Given the description of an element on the screen output the (x, y) to click on. 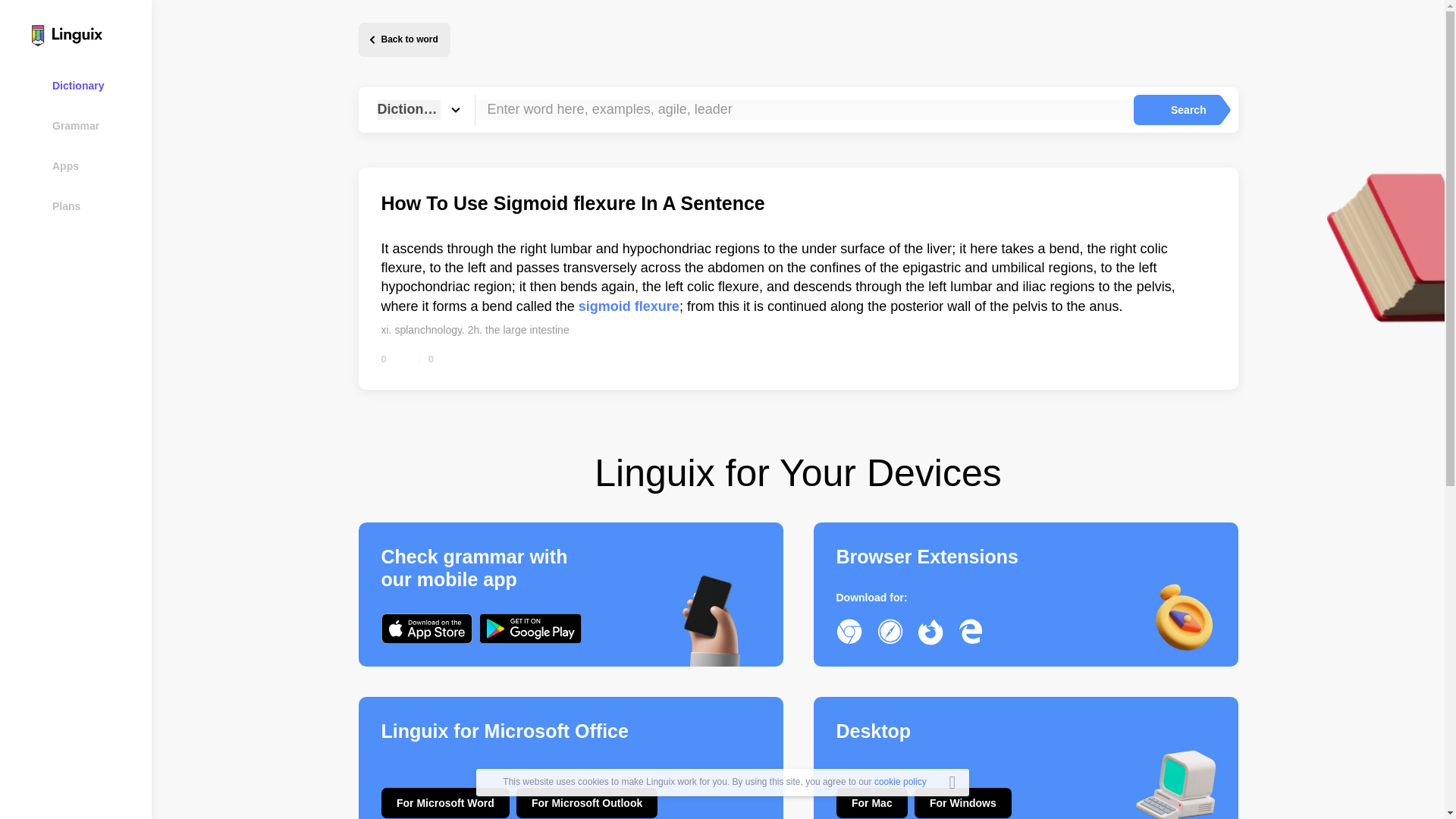
cookie policy (900, 781)
Grammar (84, 126)
Plans (84, 206)
0 (394, 357)
For Mac (871, 802)
Back to word (403, 39)
For Microsoft Word (444, 802)
Dictionary (84, 85)
Search (1175, 110)
For Microsoft Outlook (587, 802)
For Windows (962, 802)
Apps (84, 165)
0 (442, 357)
